Given the description of an element on the screen output the (x, y) to click on. 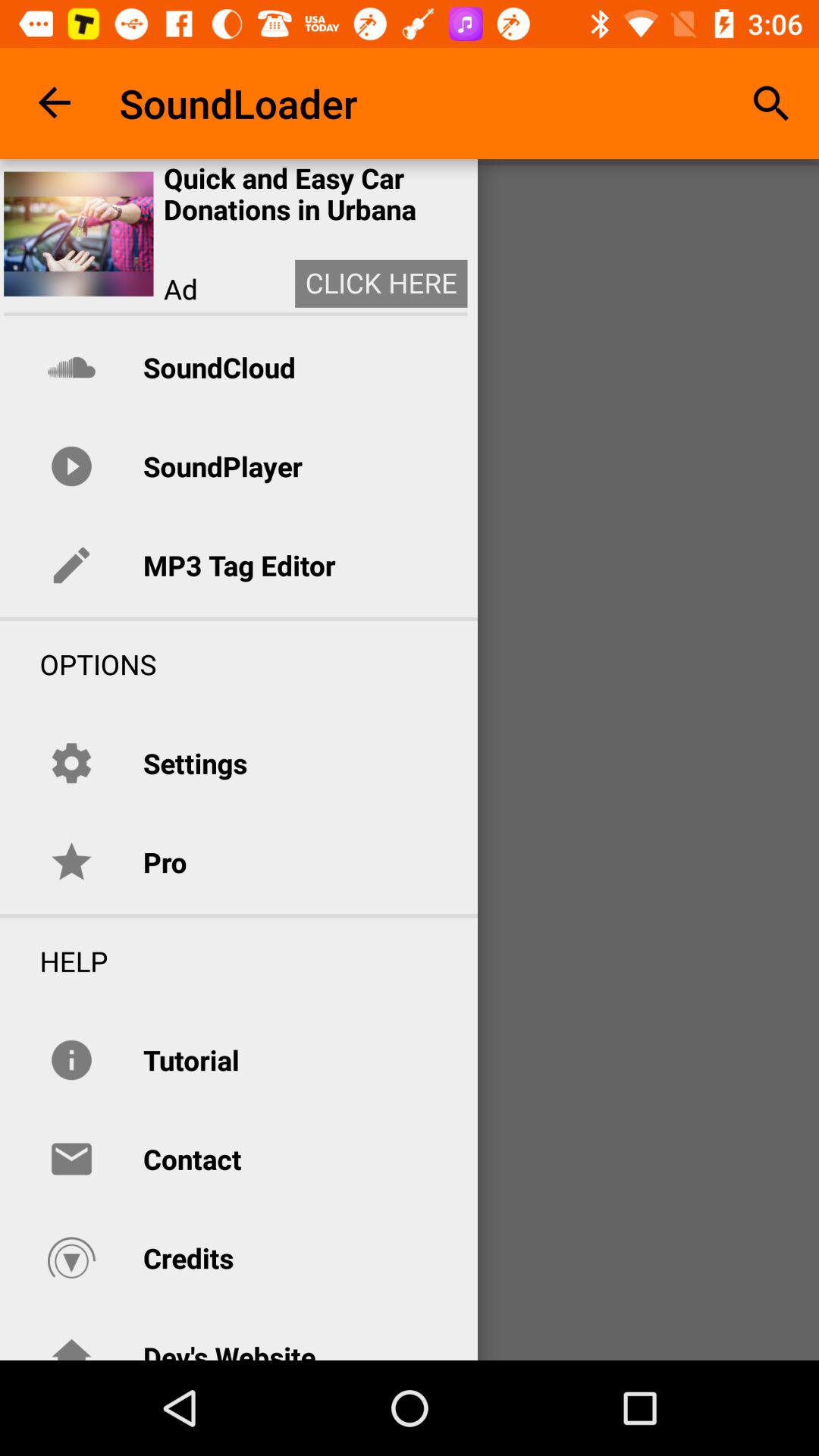
scroll until dev's website (229, 1349)
